Given the description of an element on the screen output the (x, y) to click on. 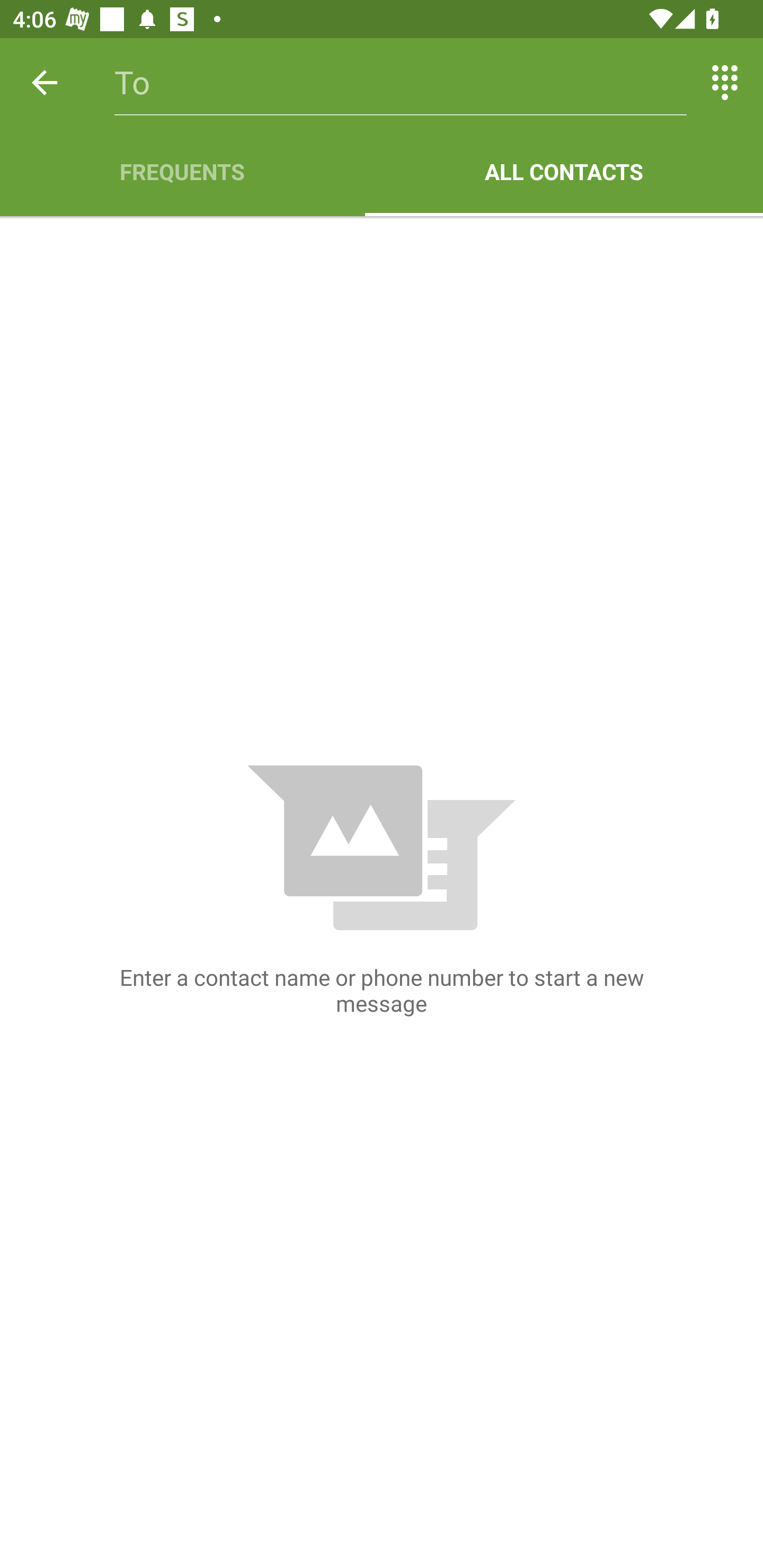
Back (44, 82)
Switch between entering text and numbers (724, 81)
To (400, 82)
FREQUENTS (182, 171)
ALL CONTACTS (563, 171)
